Given the description of an element on the screen output the (x, y) to click on. 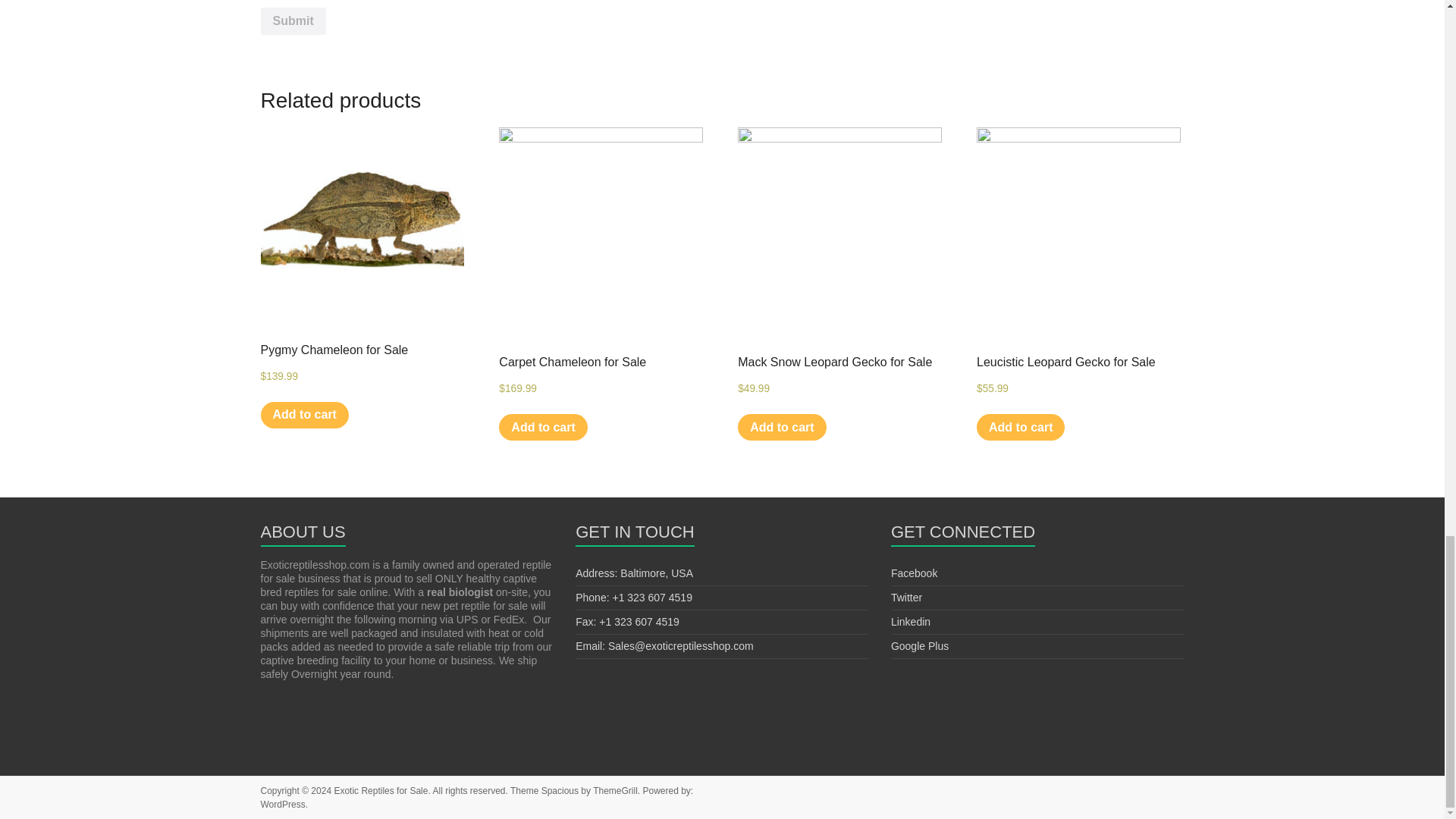
Spacious (559, 790)
WordPress (282, 804)
Submit (293, 21)
Exotic Reptiles for Sale (380, 790)
